Given the description of an element on the screen output the (x, y) to click on. 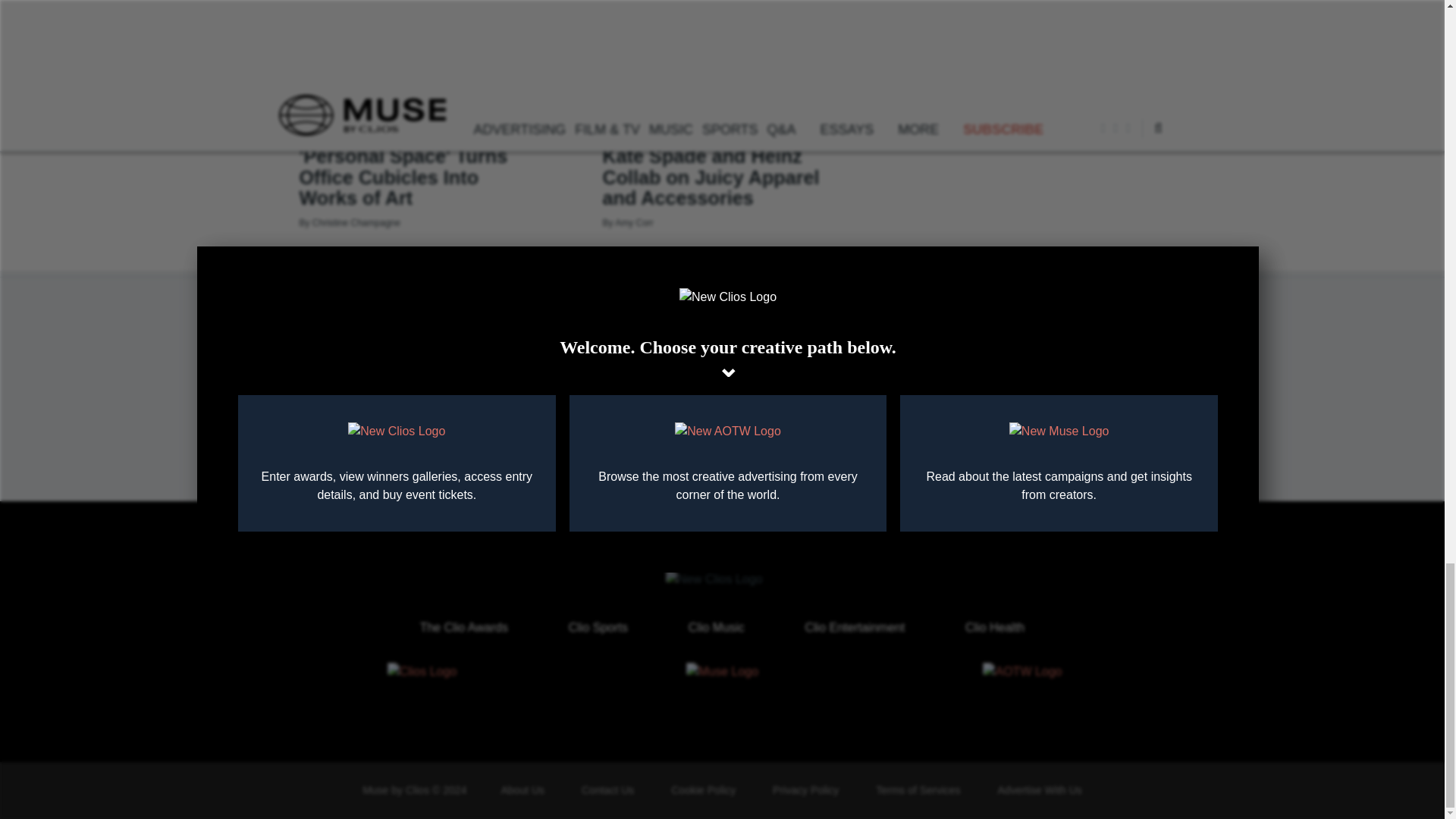
Advertise With Us (1039, 789)
